Given the description of an element on the screen output the (x, y) to click on. 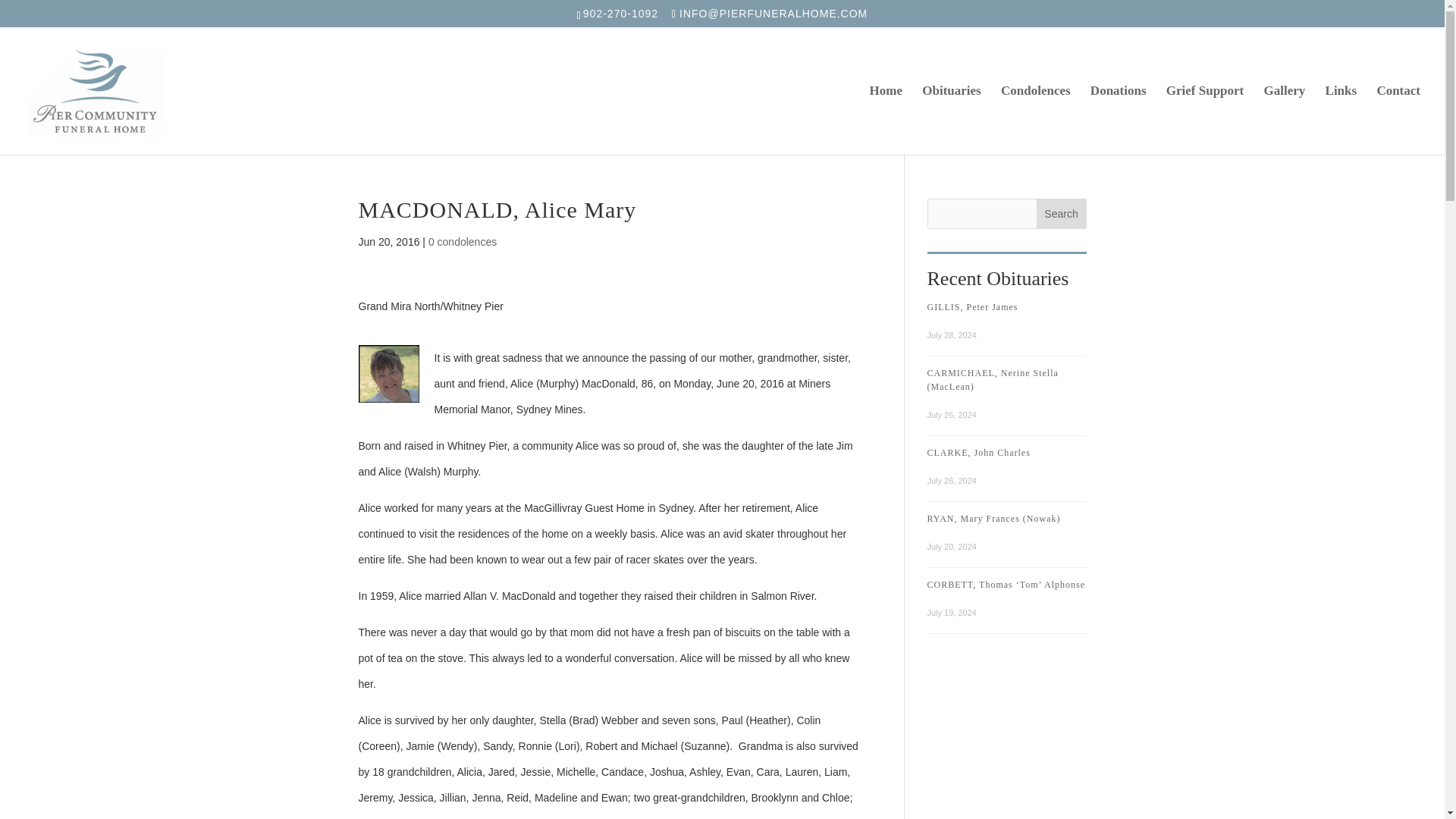
902-270-1092 (622, 13)
CLARKE, John Charles (977, 452)
Search (1061, 214)
Grief Support (1204, 119)
GILLIS, Peter James (971, 307)
0 condolences (462, 241)
Condolences (1035, 119)
